Given the description of an element on the screen output the (x, y) to click on. 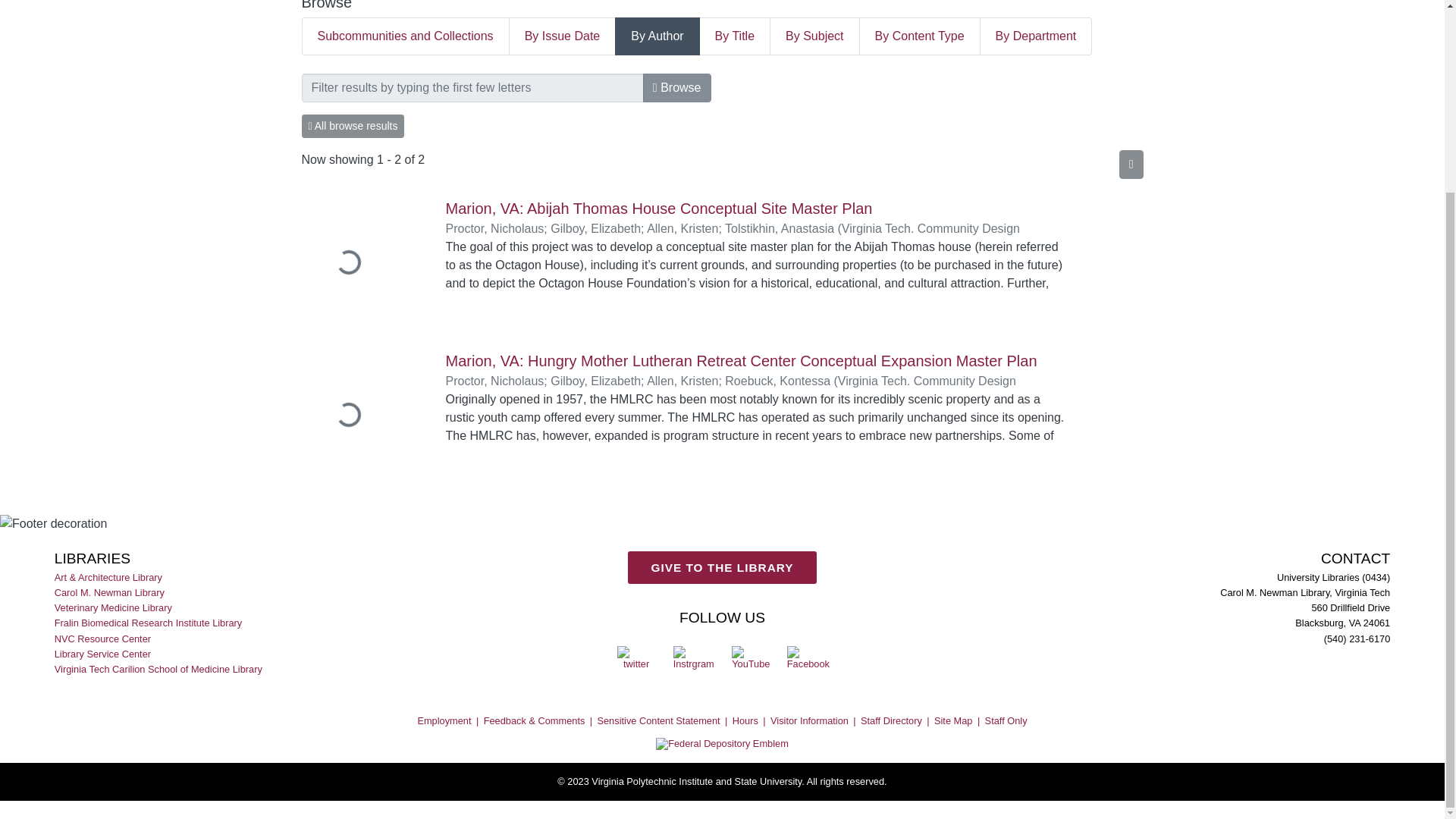
By Issue Date (562, 36)
By Department (1036, 36)
By Subject (814, 36)
By Author (656, 36)
By Content Type (919, 36)
By Title (735, 36)
Browse (677, 87)
Subcommunities and Collections (405, 36)
All browse results (352, 126)
